Given the description of an element on the screen output the (x, y) to click on. 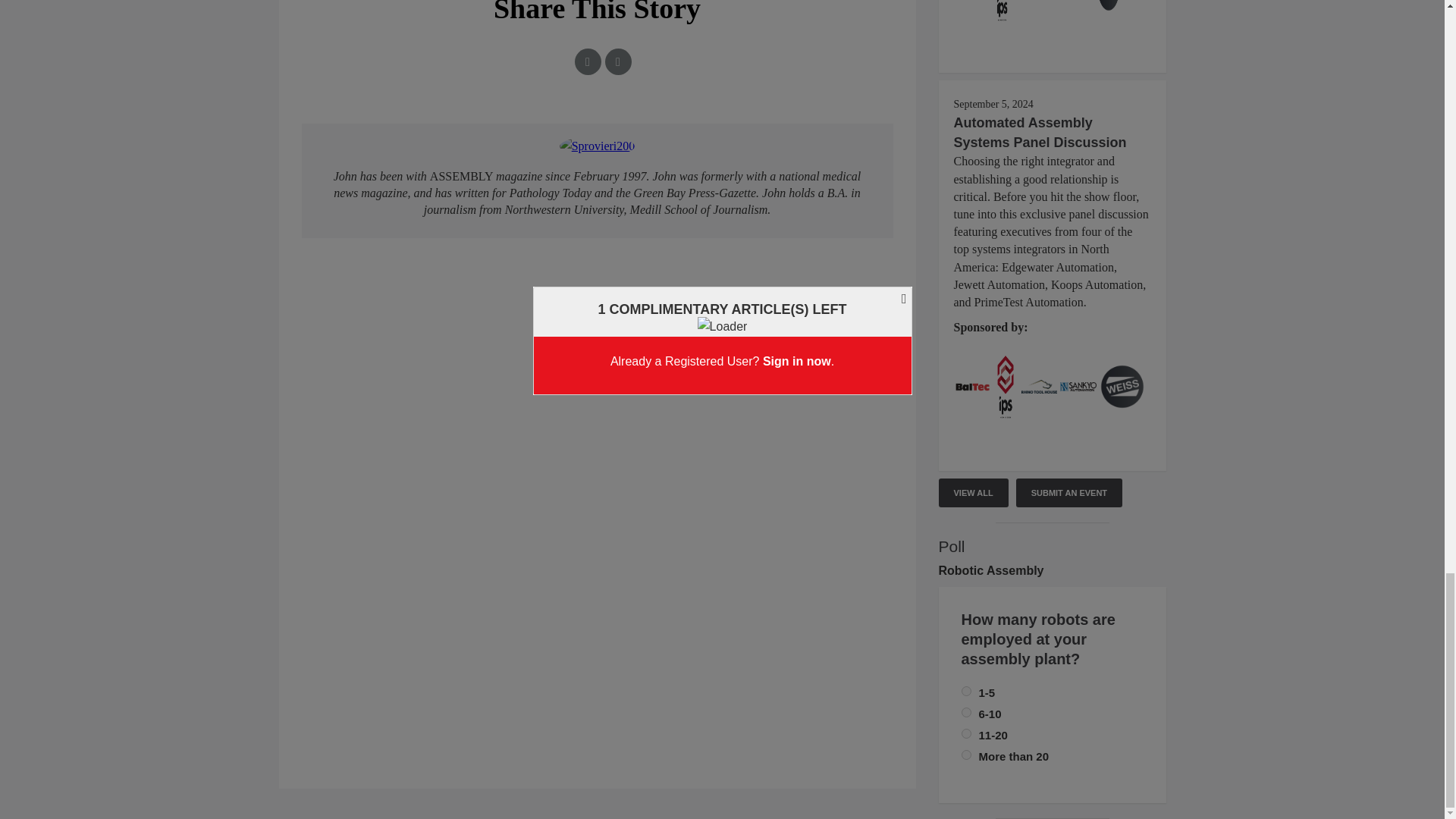
385 (965, 691)
384 (965, 712)
Automated Assembly Systems Panel Discussion (1039, 132)
386 (965, 755)
383 (965, 733)
